Given the description of an element on the screen output the (x, y) to click on. 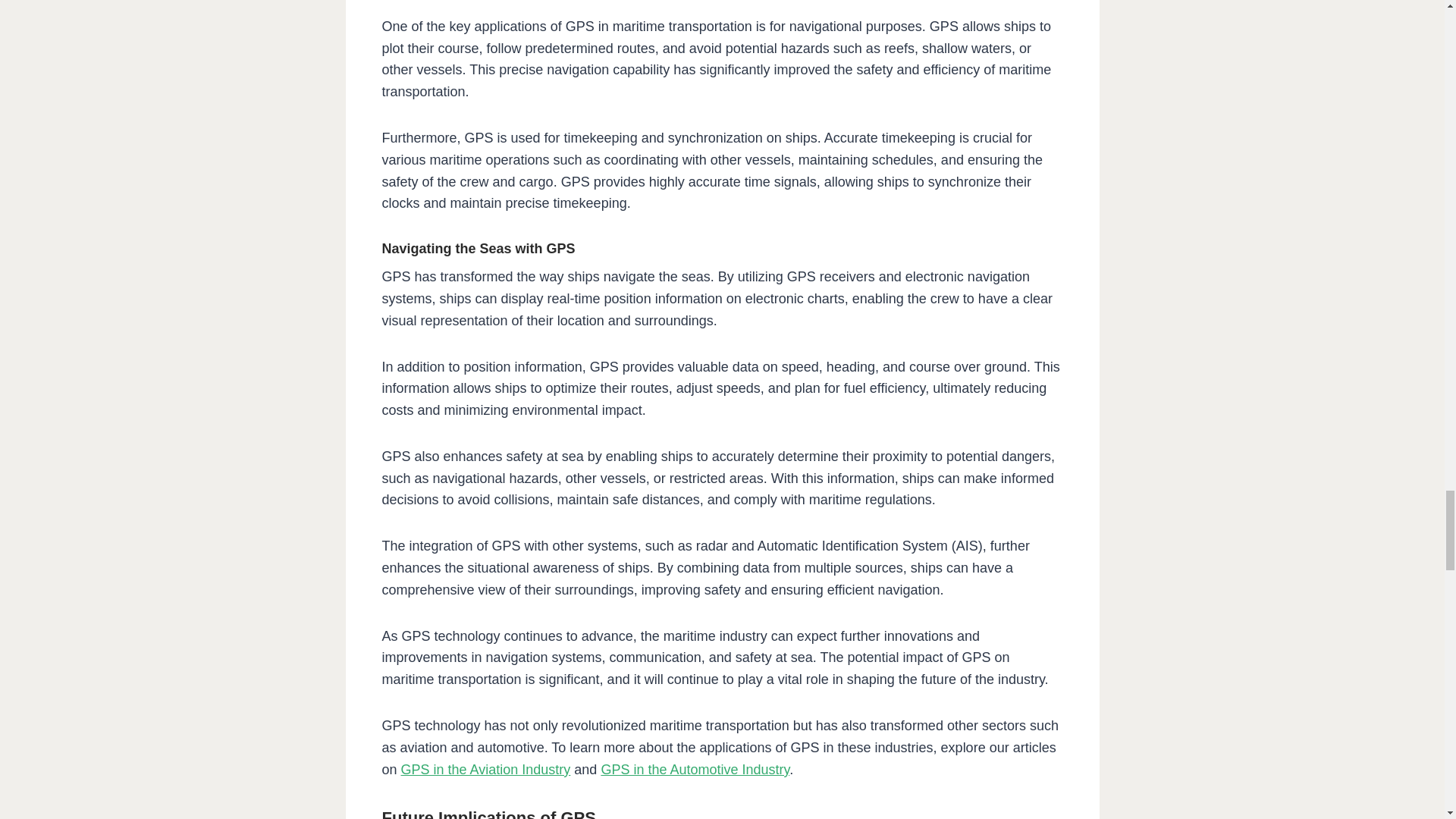
GPS in the Aviation Industry (485, 769)
GPS in the Automotive Industry (694, 769)
